Given the description of an element on the screen output the (x, y) to click on. 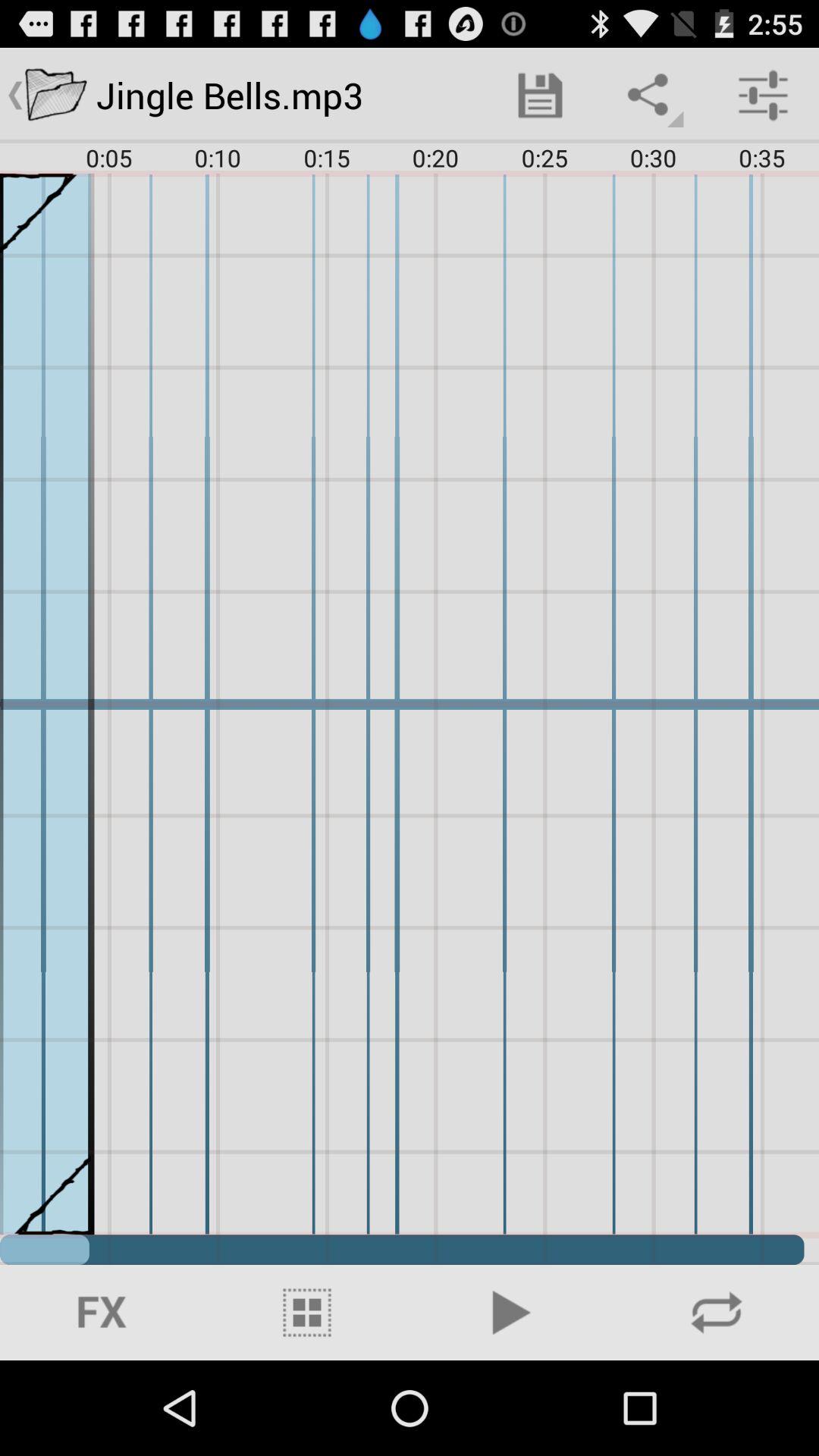
select item next to jingle bells.mp3 item (540, 95)
